Given the description of an element on the screen output the (x, y) to click on. 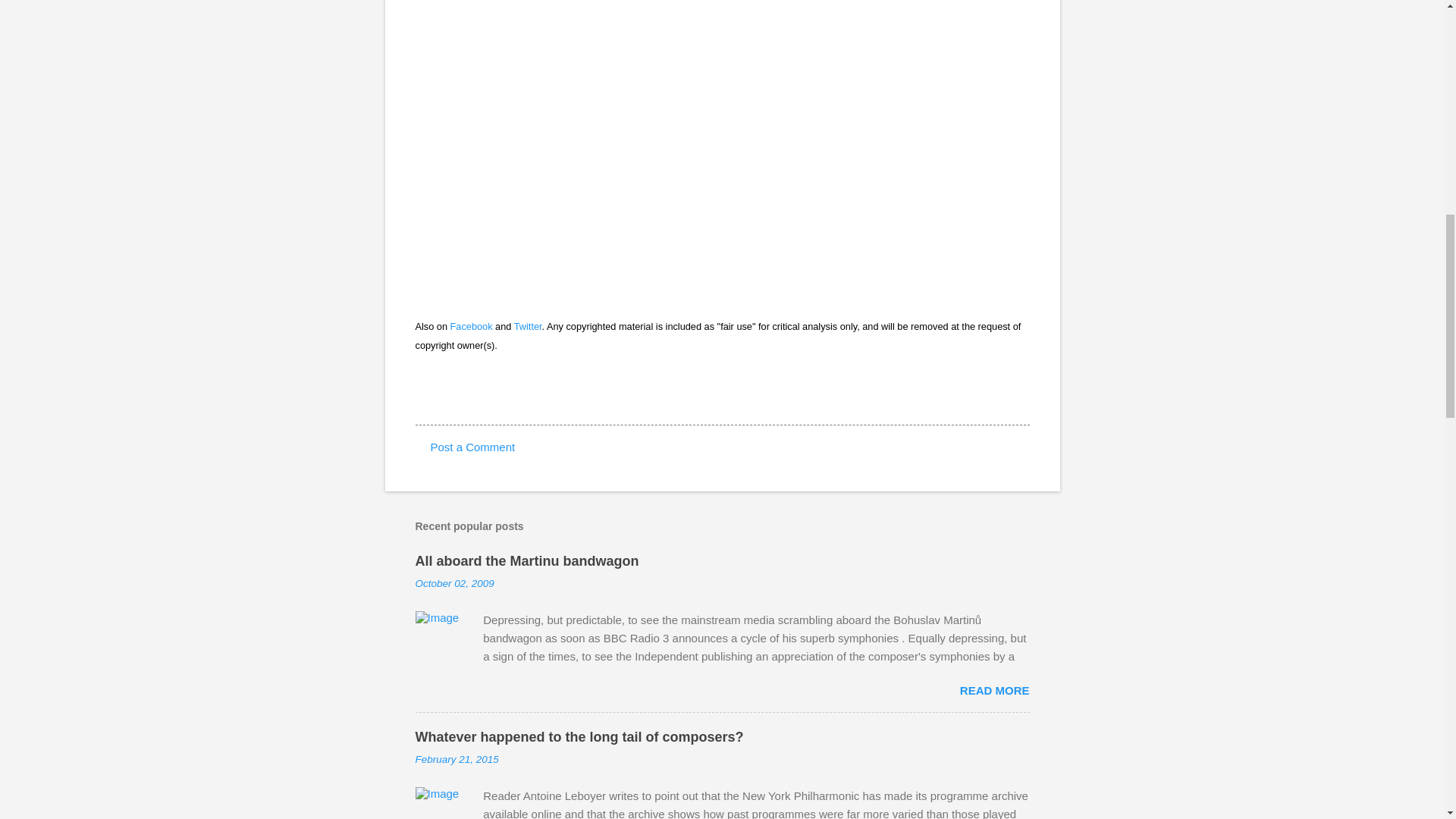
All aboard the Martinu bandwagon (526, 560)
Whatever happened to the long tail of composers? (579, 736)
Twitter (527, 325)
READ MORE (994, 689)
Email Post (423, 397)
October 02, 2009 (454, 583)
Post a Comment (472, 446)
Facebook (471, 325)
February 21, 2015 (456, 758)
permanent link (454, 583)
